Given the description of an element on the screen output the (x, y) to click on. 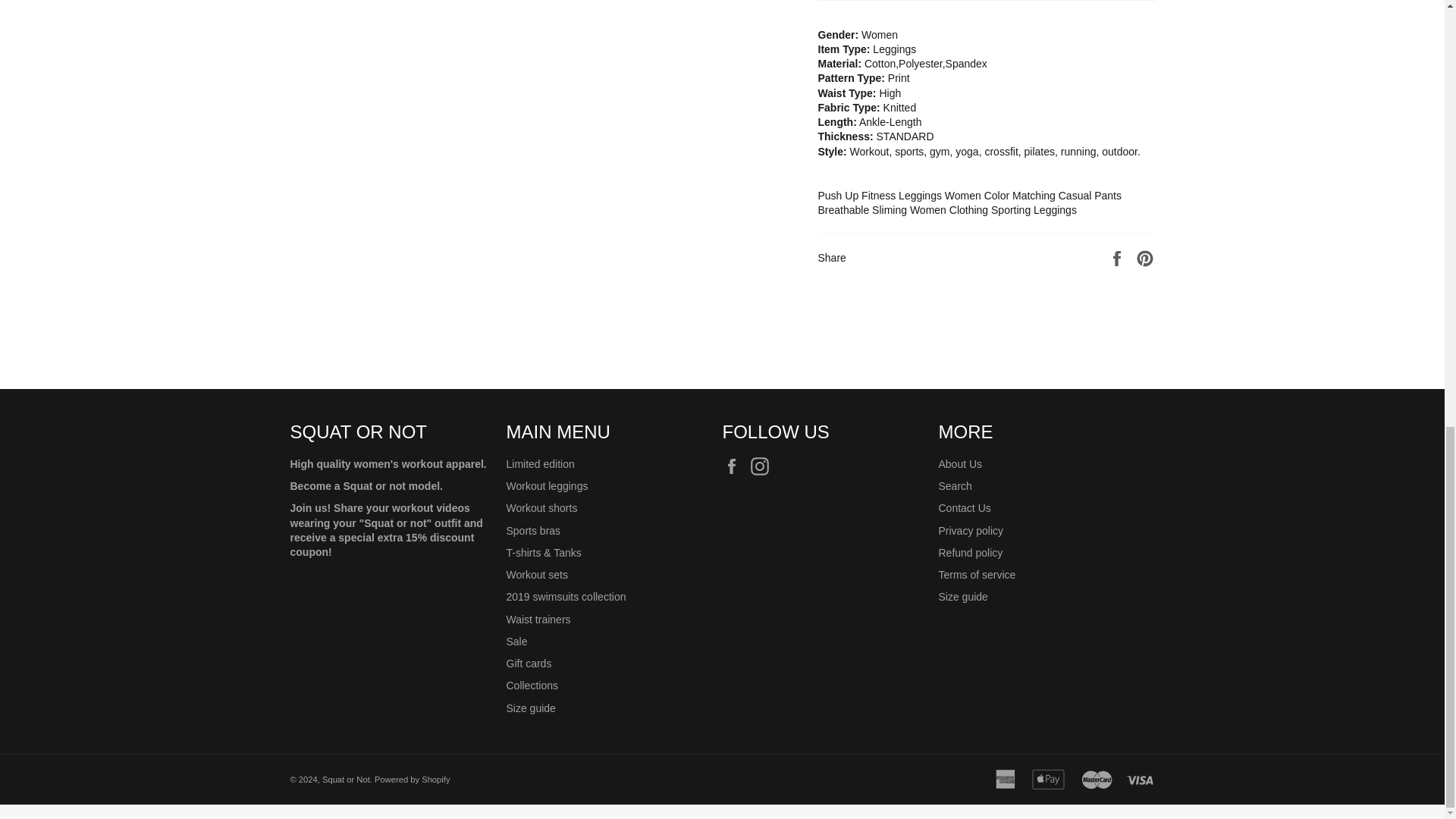
Squat or Not on Instagram (763, 466)
Share on Facebook (1118, 256)
Pin on Pinterest (1144, 256)
Squat or Not on Facebook (735, 466)
